Given the description of an element on the screen output the (x, y) to click on. 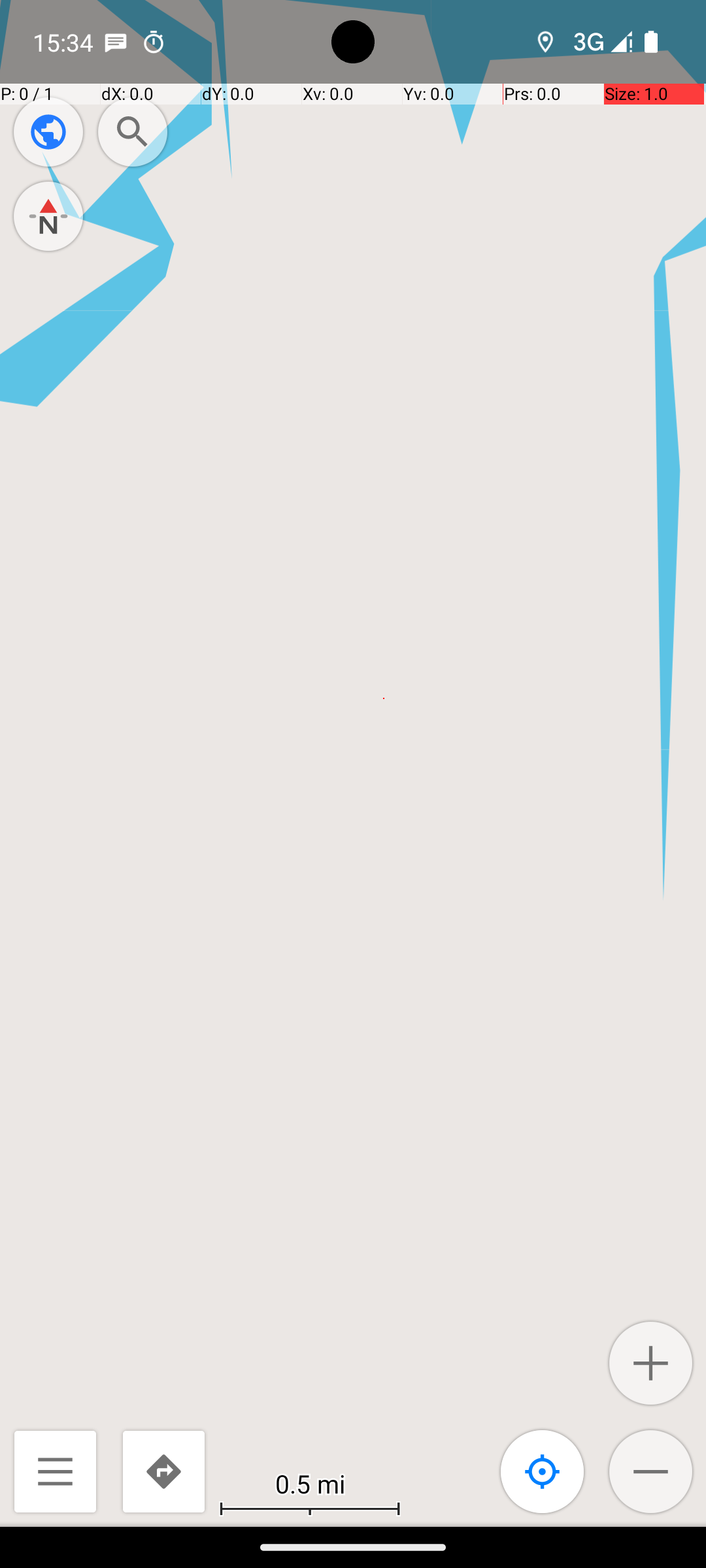
0.5 mi Element type: android.widget.TextView (309, 1483)
Map linked to location Element type: android.widget.ImageButton (542, 1471)
SMS Messenger notification: +17247648679 Element type: android.widget.ImageView (115, 41)
